Given the description of an element on the screen output the (x, y) to click on. 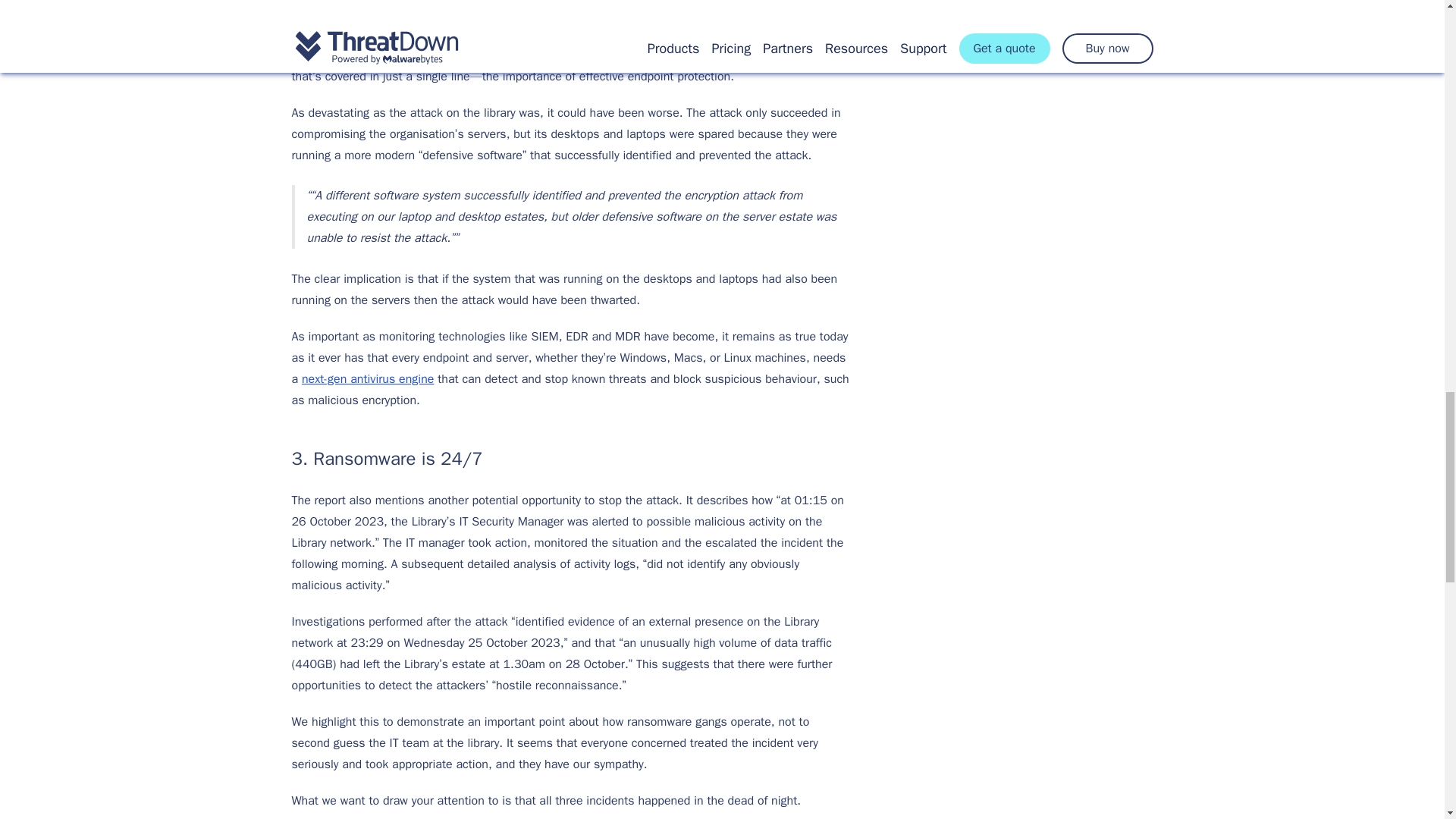
next-gen antivirus engine (367, 378)
